Given the description of an element on the screen output the (x, y) to click on. 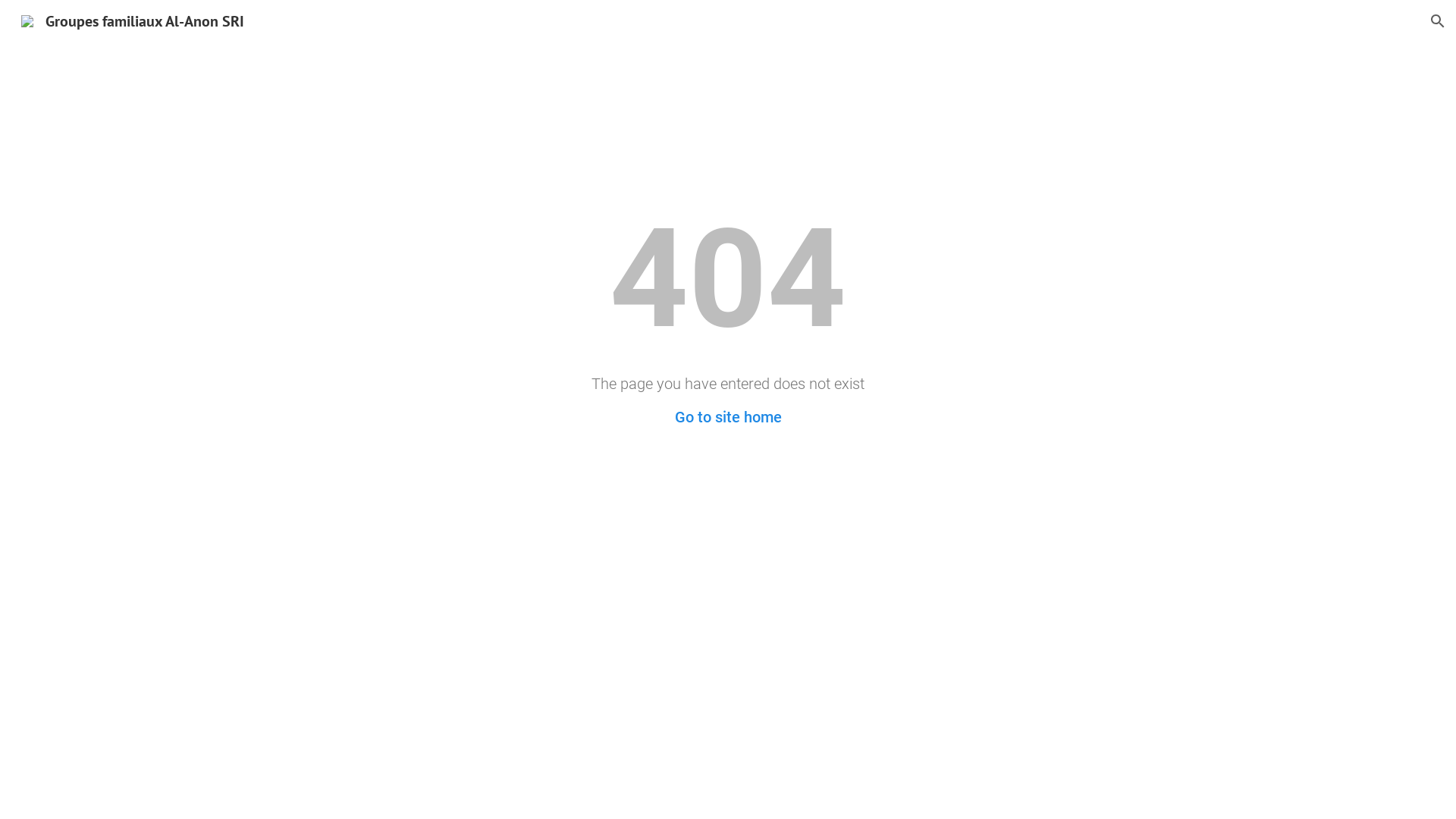
Groupes familiaux Al-Anon SRI Element type: text (132, 19)
Go to site home Element type: text (727, 416)
